Given the description of an element on the screen output the (x, y) to click on. 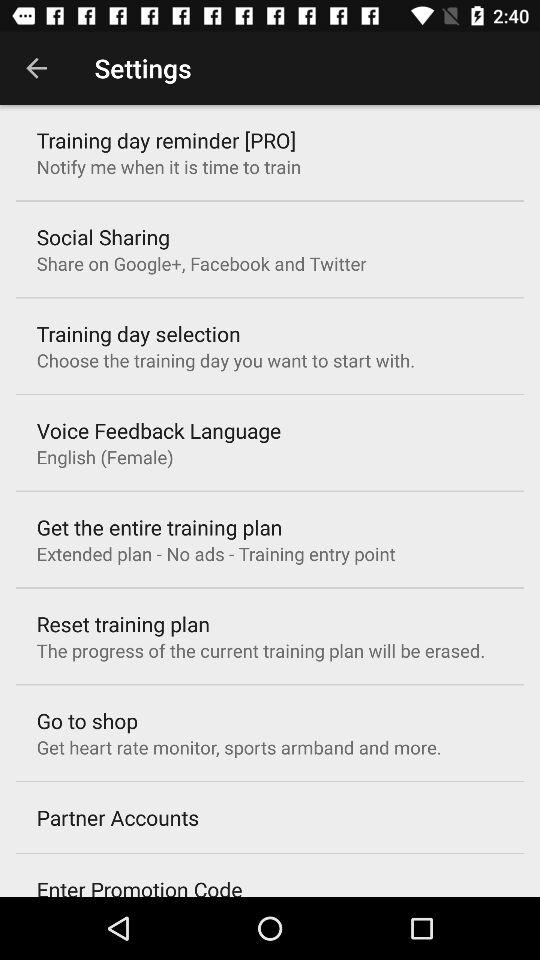
click the go to shop (87, 720)
